Given the description of an element on the screen output the (x, y) to click on. 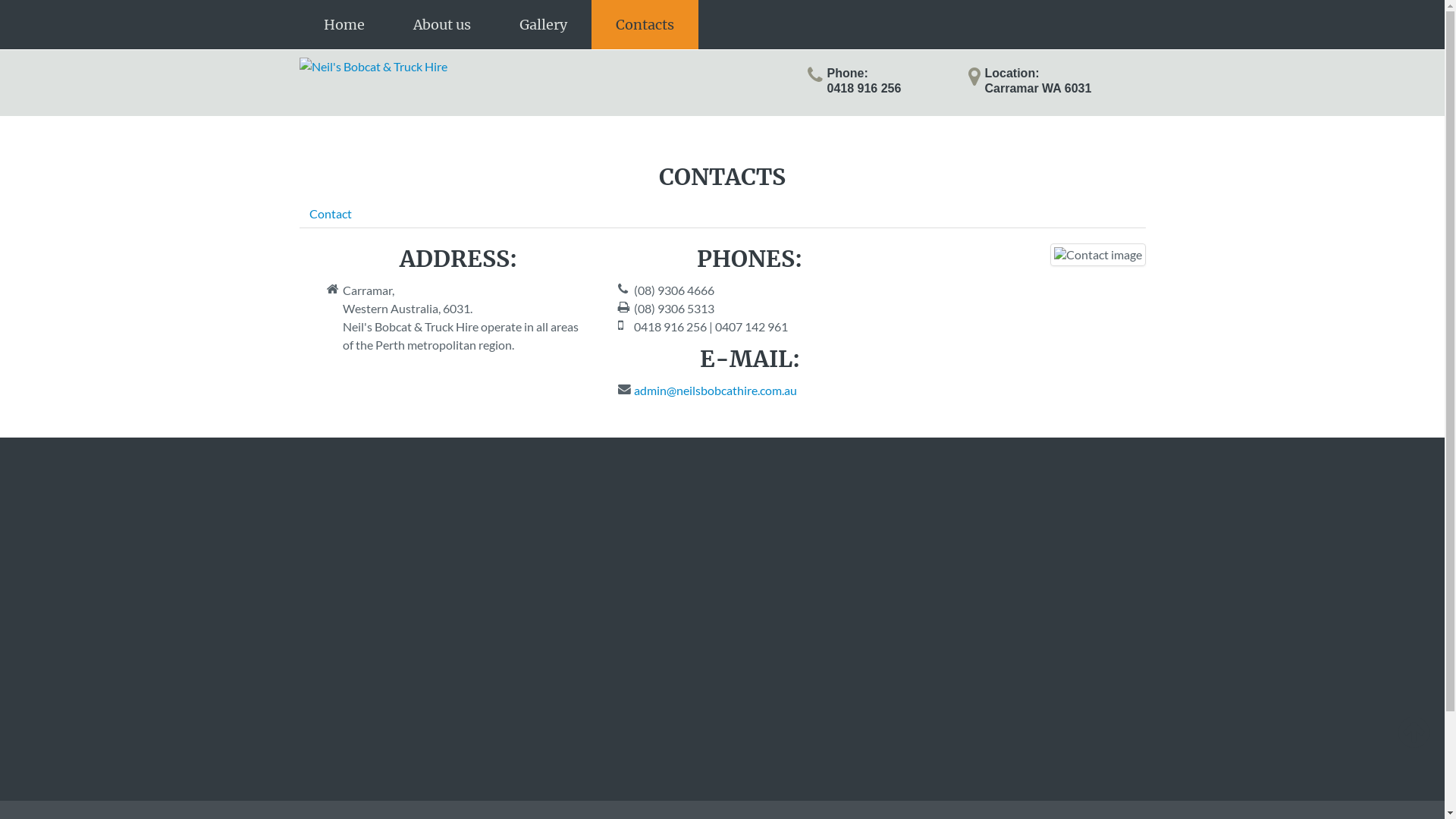
Contacts Element type: text (644, 24)
admin@neilsbobcathire.com.au Element type: text (715, 389)
About us Element type: text (441, 24)
Gallery Element type: text (542, 24)
Contact Element type: text (329, 213)
Home Element type: text (343, 24)
